Given the description of an element on the screen output the (x, y) to click on. 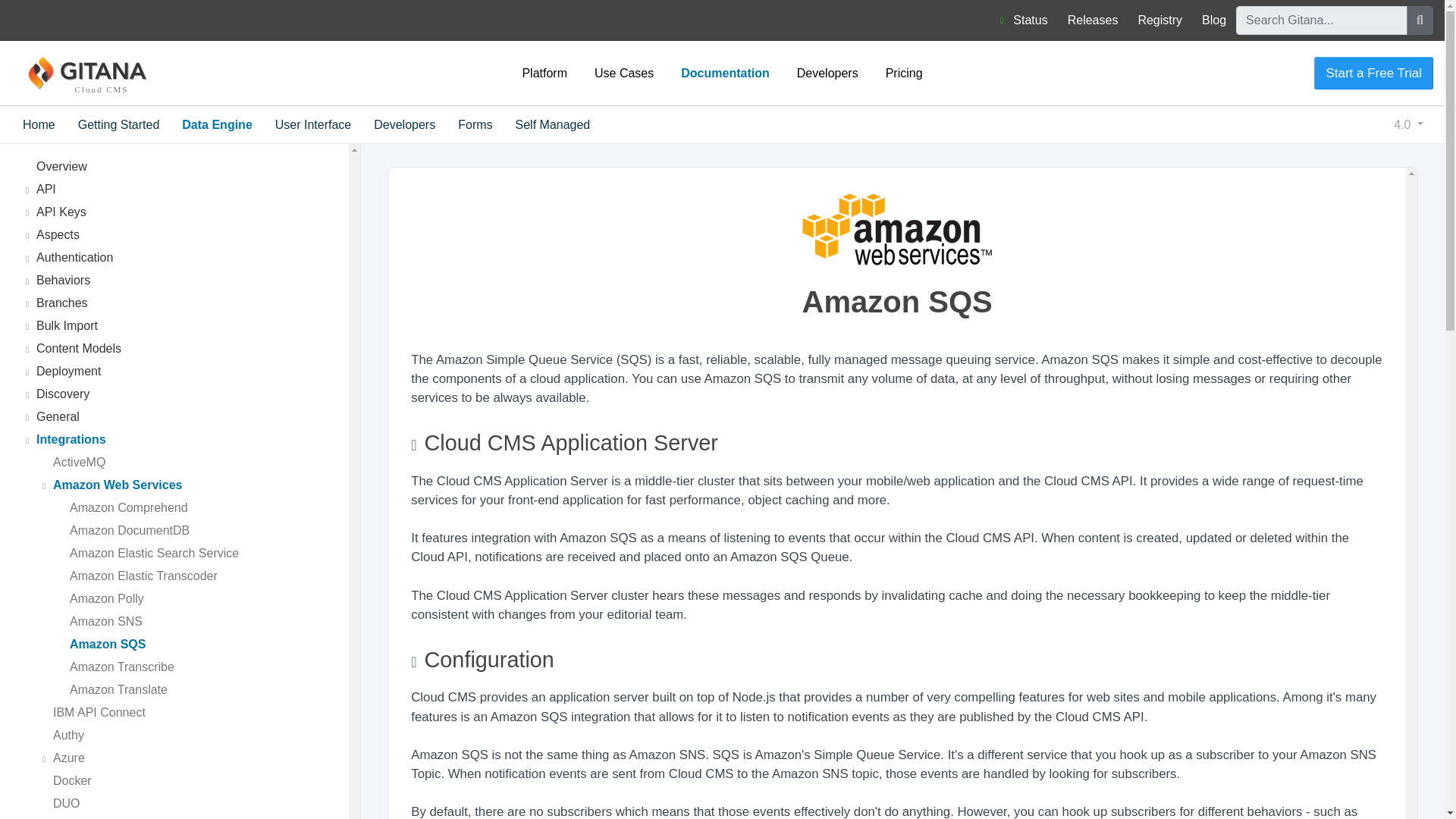
Search (1419, 20)
Start a Free Trial (1373, 73)
Use Cases (623, 72)
Documentation (724, 72)
Use Cases (623, 72)
4.0 (1408, 124)
Registry (1159, 20)
Releases (1093, 20)
User Interface (312, 124)
Developers (827, 72)
